Given the description of an element on the screen output the (x, y) to click on. 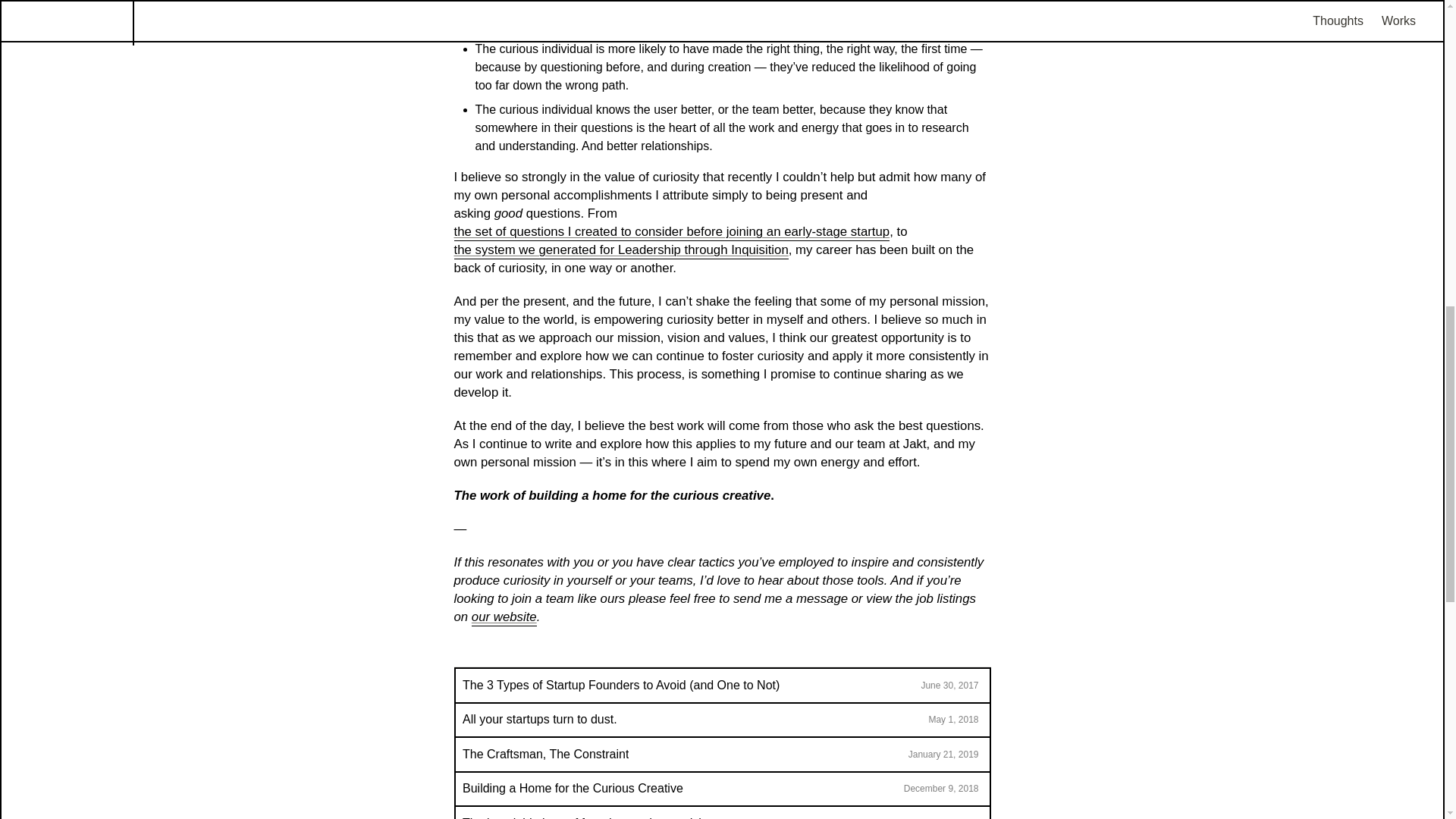
our website (504, 617)
the system we generated for Leadership through Inquisition (619, 249)
